Given the description of an element on the screen output the (x, y) to click on. 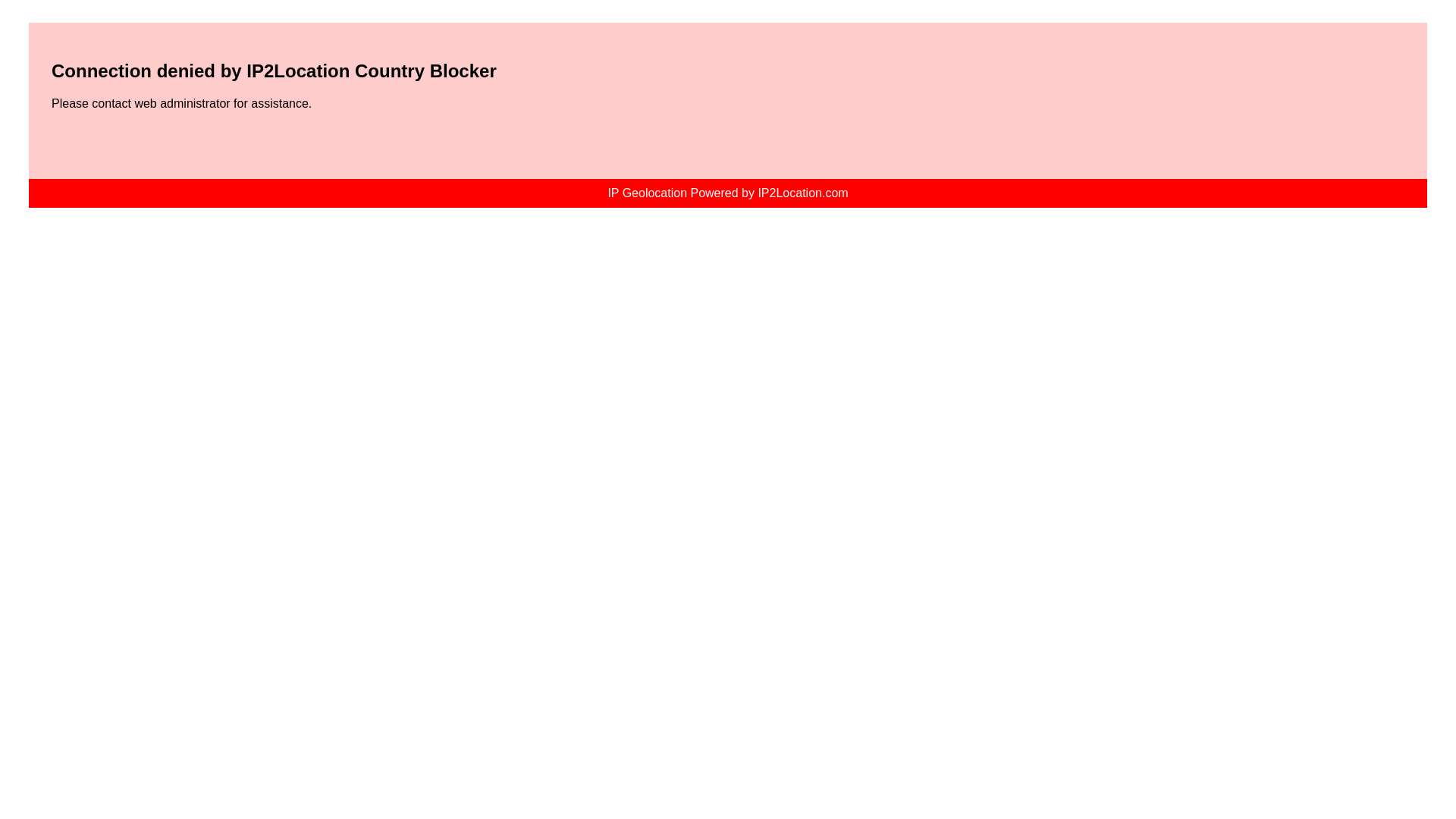
IP Geolocation Powered by IP2Location.com (727, 192)
